Given the description of an element on the screen output the (x, y) to click on. 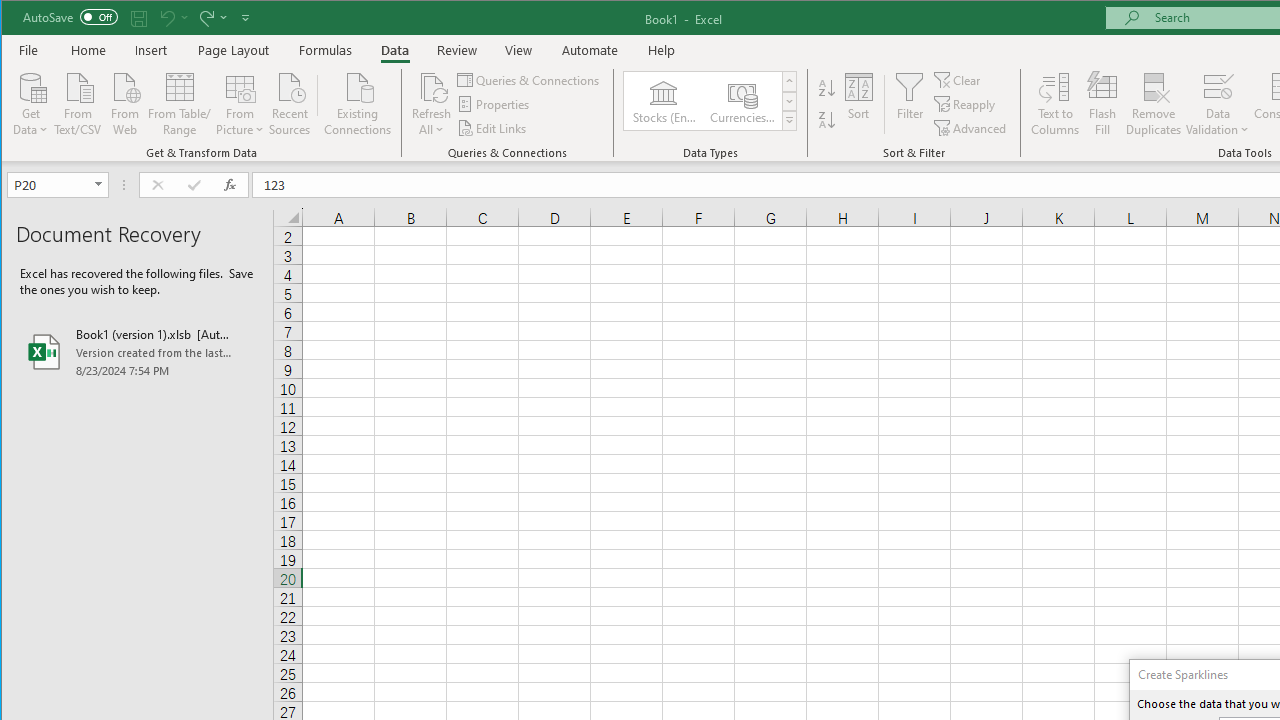
Row up (789, 81)
Flash Fill (1102, 104)
Get Data (31, 101)
Reapply (966, 103)
Stocks (English) (663, 100)
Clear (958, 80)
Remove Duplicates (1153, 104)
AutomationID: ConvertToLinkedEntity (711, 101)
From Picture (240, 101)
Filter (909, 104)
